Given the description of an element on the screen output the (x, y) to click on. 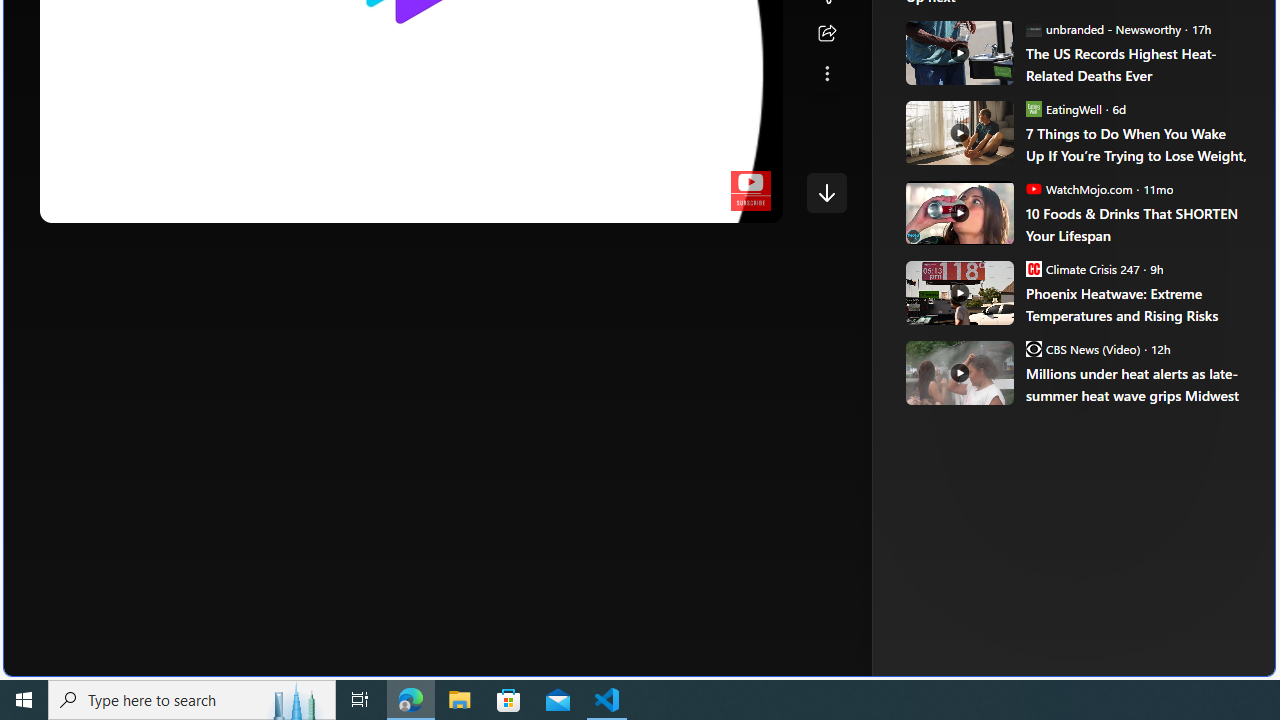
unbranded - Newsworthy (1033, 28)
Full screen (f) (750, 202)
Share this story (826, 33)
Channel watermark (750, 191)
The US Records Highest Heat-Related Deaths Ever (1136, 64)
Class: control (826, 192)
See more (826, 74)
Unmute (m) (118, 202)
Ad Choice (1212, 336)
Seek slider (411, 182)
WatchMojo.com (1033, 188)
